Given the description of an element on the screen output the (x, y) to click on. 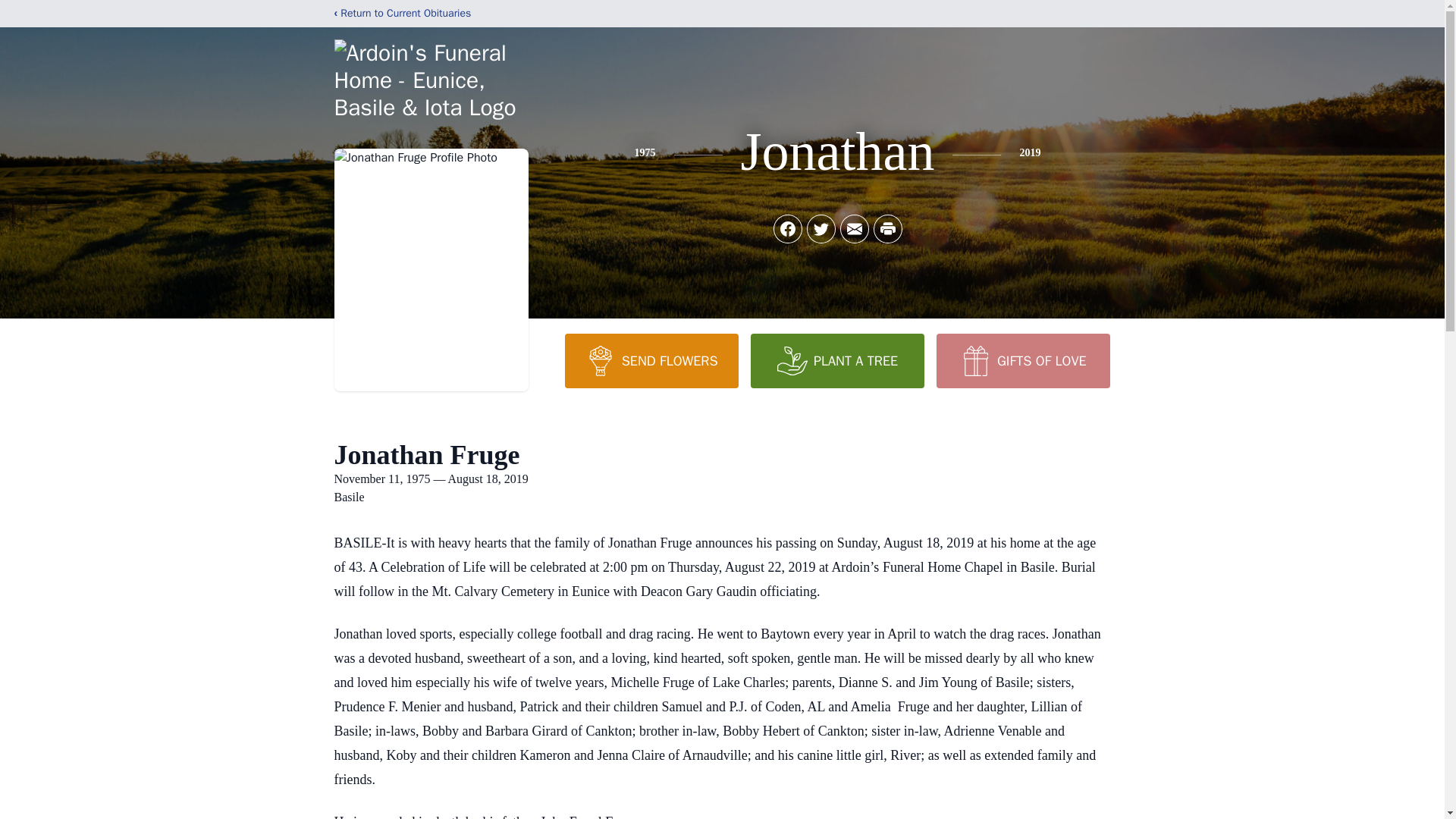
SEND FLOWERS (651, 360)
GIFTS OF LOVE (1022, 360)
PLANT A TREE (837, 360)
